Given the description of an element on the screen output the (x, y) to click on. 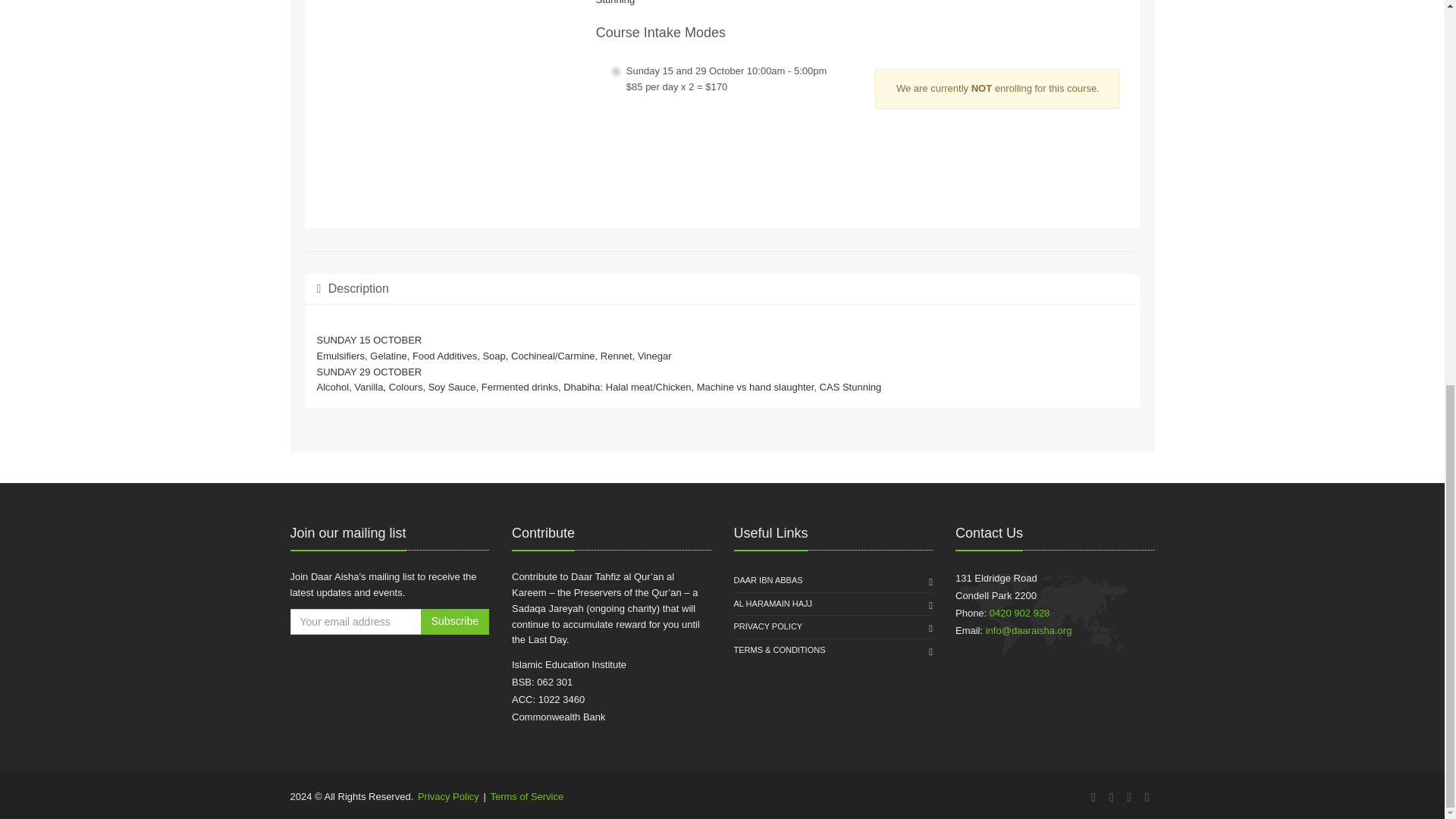
DAAR IBN ABBAS (768, 580)
AL HARAMAIN HAJJ (772, 603)
Terms of Service (526, 796)
Privacy Policy (448, 796)
Subscribe (454, 621)
PRIVACY POLICY (768, 626)
38 (616, 71)
0420 902 928 (1019, 613)
